Given the description of an element on the screen output the (x, y) to click on. 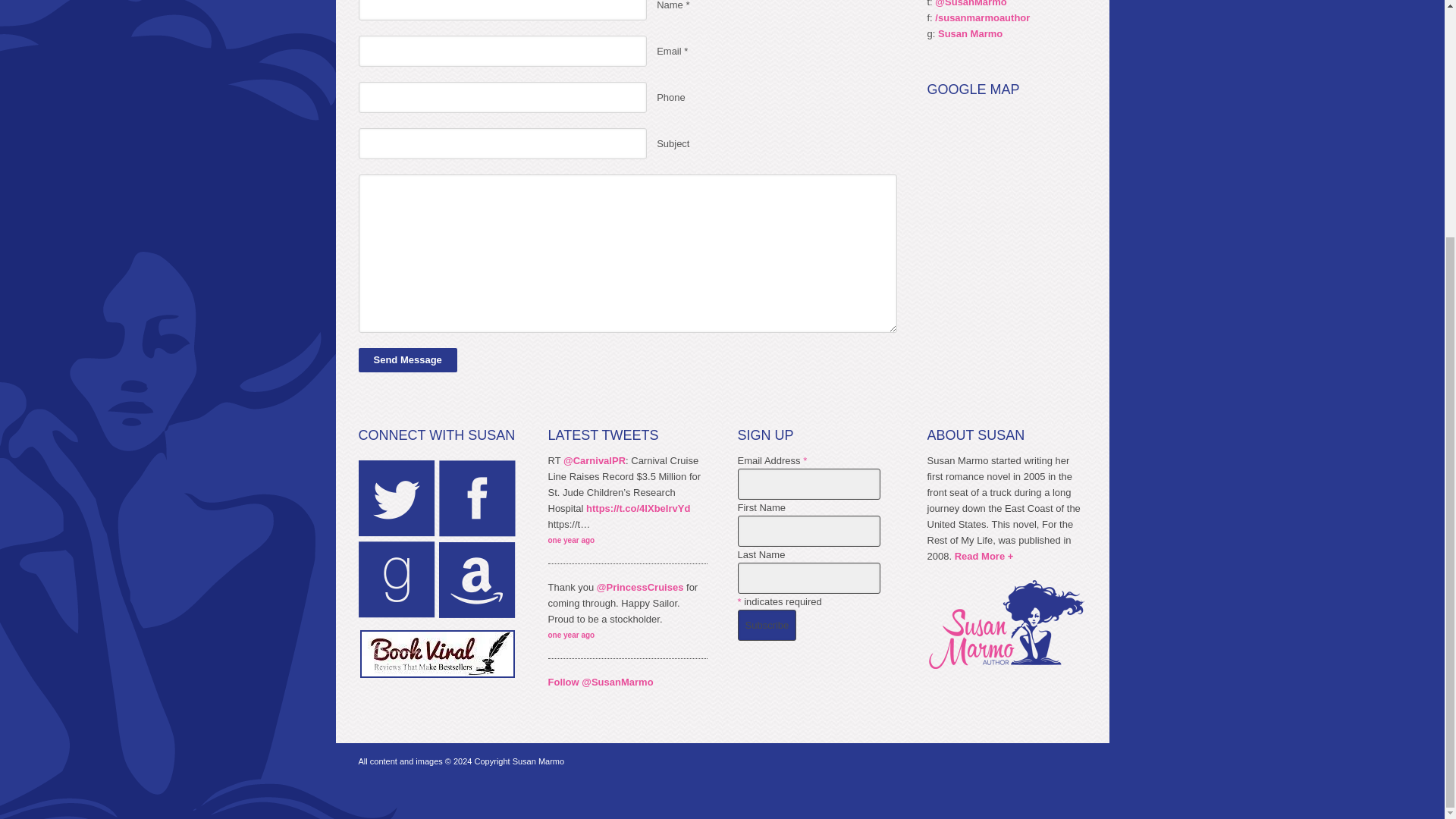
one year ago (570, 540)
Subscribe (766, 624)
one year ago (570, 634)
Susan Marmo (970, 33)
Subscribe (766, 624)
Send Message (407, 360)
